Given the description of an element on the screen output the (x, y) to click on. 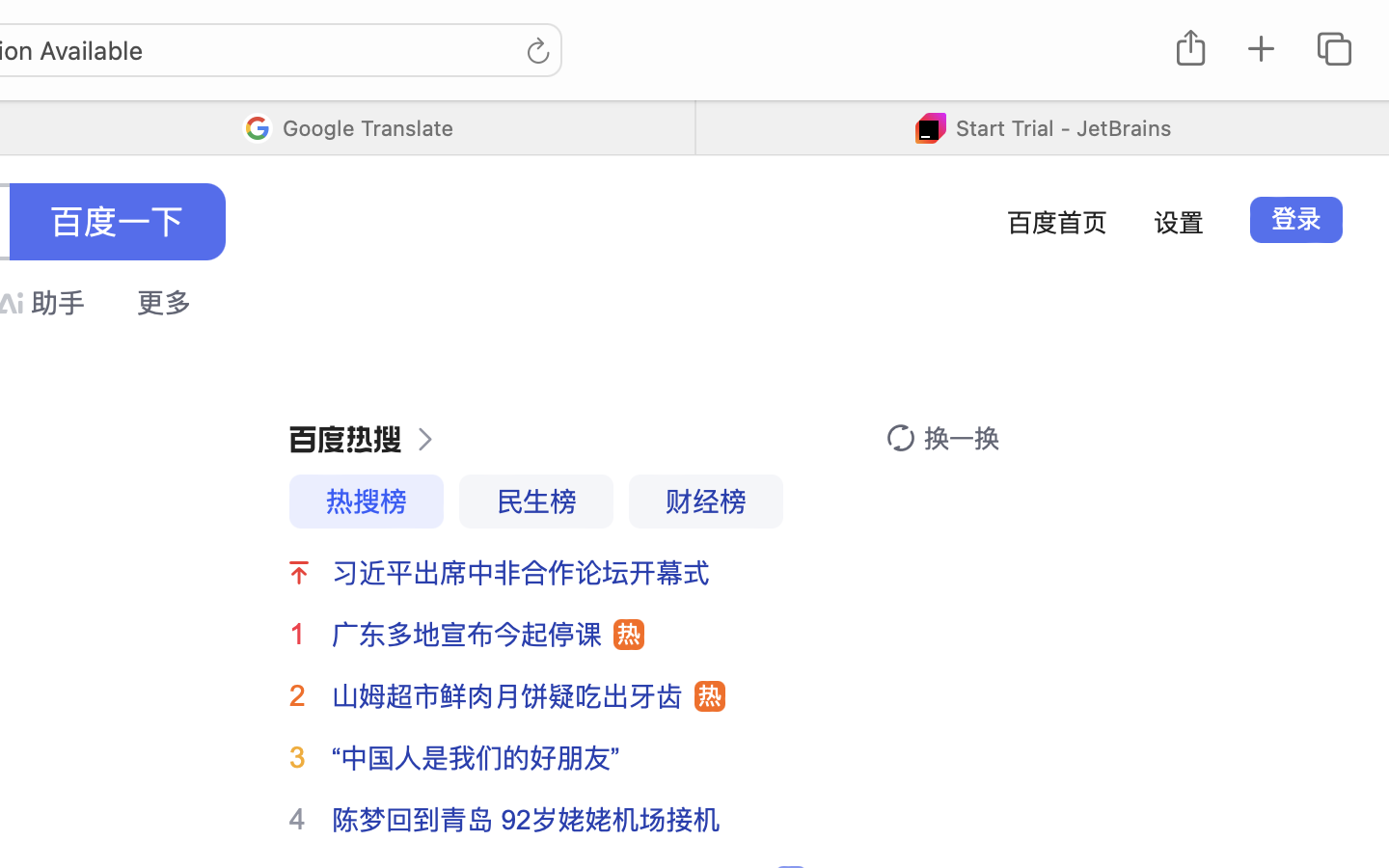
 Element type: AXStaticText (345, 439)
百度首页 Element type: AXStaticText (1057, 222)
财经榜 Element type: AXStaticText (705, 501)
4 Element type: AXStaticText (296, 818)
 Element type: AXStaticText (418, 439)
